Given the description of an element on the screen output the (x, y) to click on. 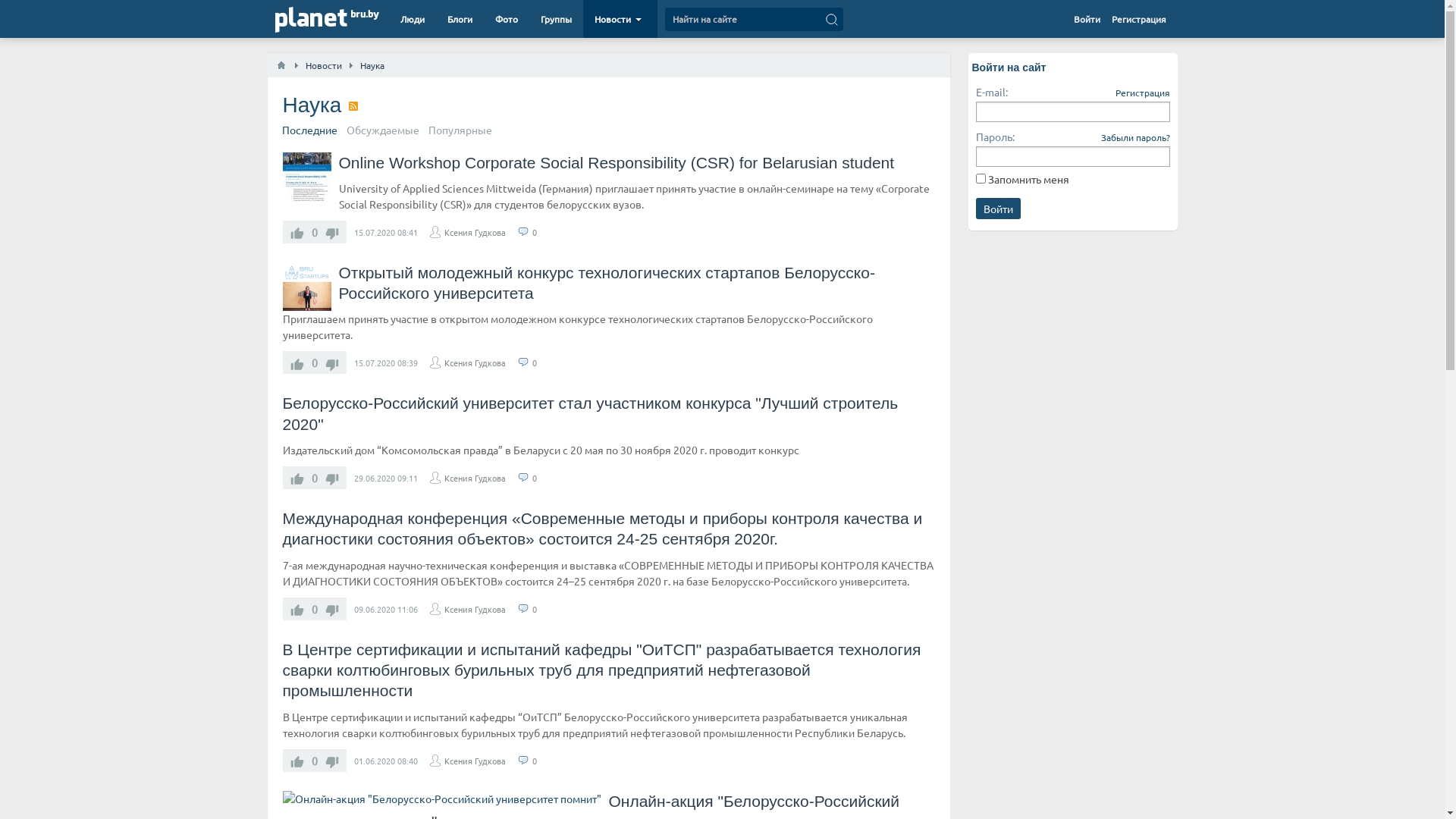
0 Element type: text (534, 362)
0 Element type: text (534, 608)
0 Element type: text (534, 477)
Planet.bru.by Element type: hover (310, 20)
0 Element type: text (534, 760)
0 Element type: text (534, 231)
bru.by Element type: hover (364, 14)
RSS Element type: hover (353, 106)
